Given the description of an element on the screen output the (x, y) to click on. 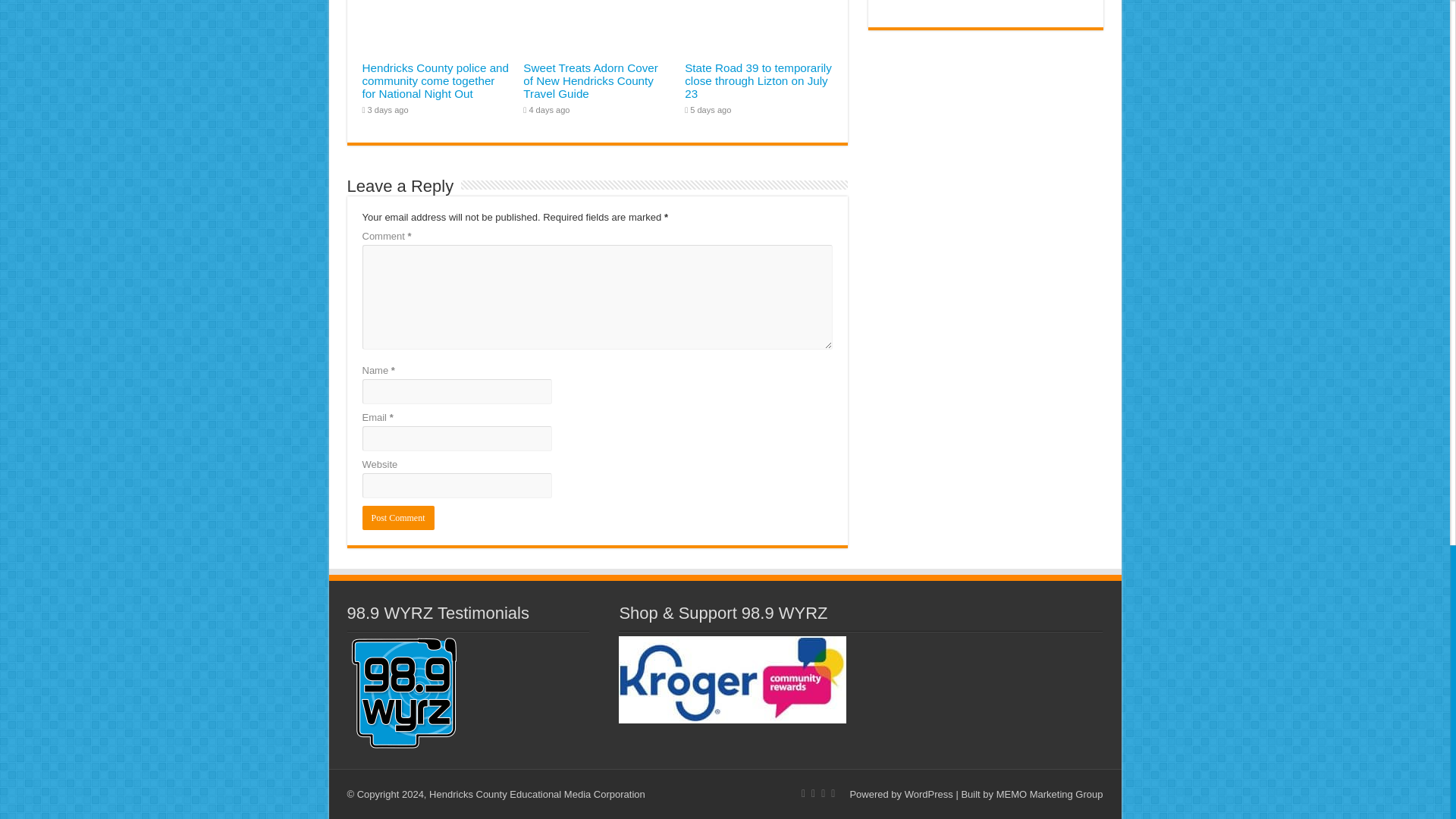
Post Comment (397, 517)
